Given the description of an element on the screen output the (x, y) to click on. 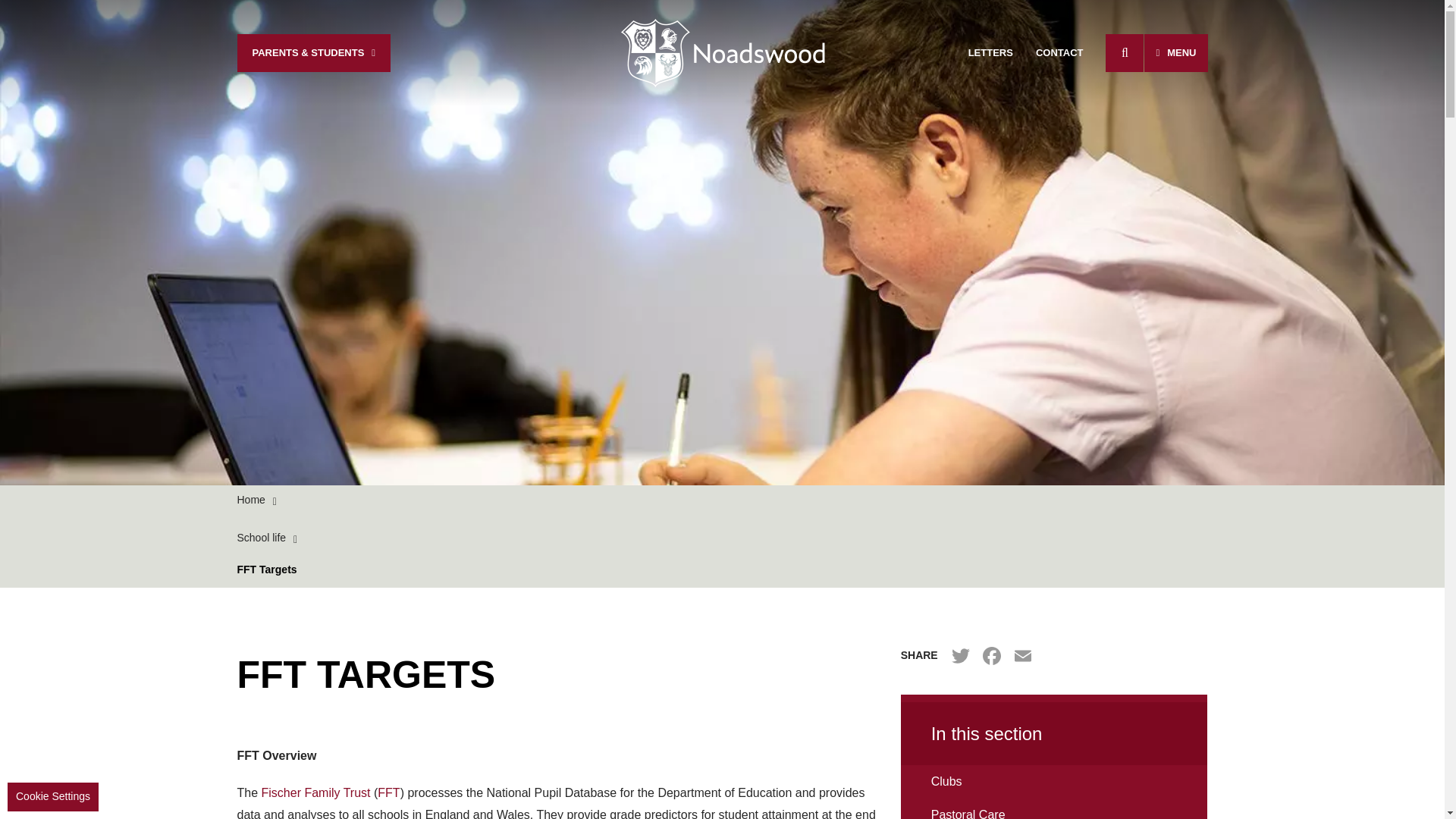
Enter the terms you wish to search for. (1118, 53)
Search (1123, 53)
